Given the description of an element on the screen output the (x, y) to click on. 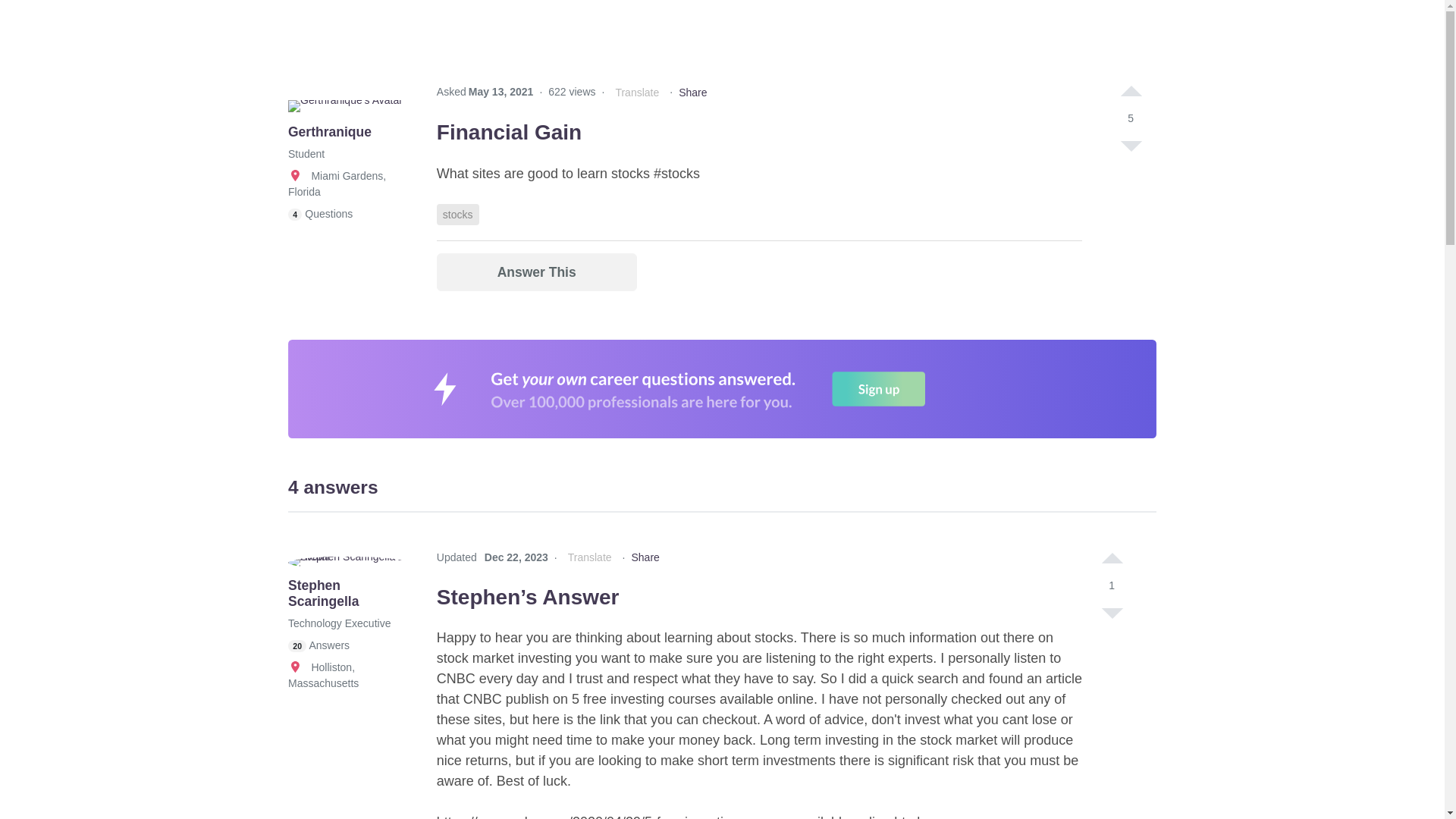
stocks (457, 214)
Answer This (536, 272)
Translate (636, 92)
Share (692, 92)
